Given the description of an element on the screen output the (x, y) to click on. 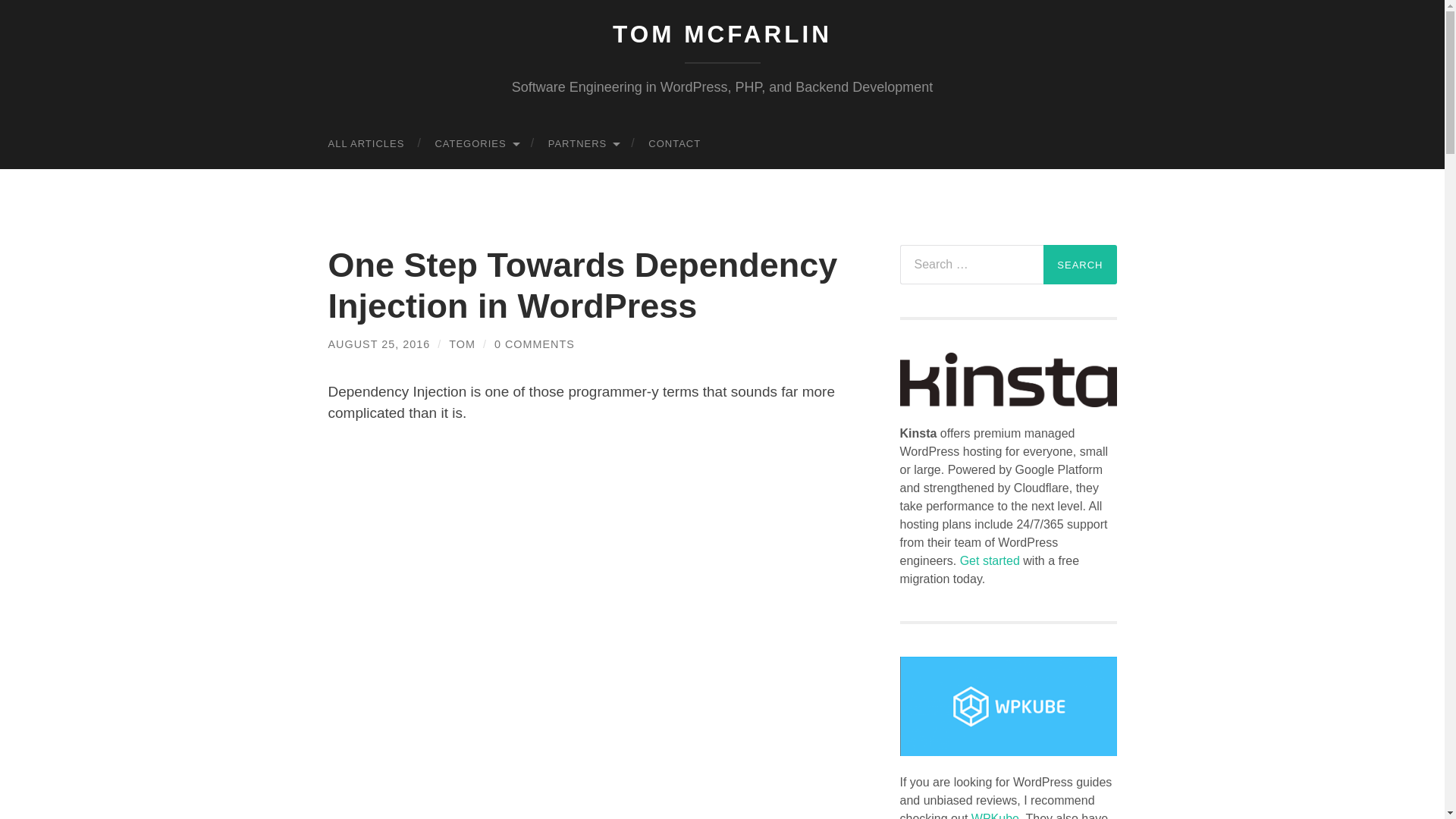
ALL ARTICLES (366, 142)
Posts by Tom (462, 344)
CONTACT (674, 142)
AUGUST 25, 2016 (378, 344)
TOM MCFARLIN (721, 33)
0 COMMENTS (535, 344)
CATEGORIES (475, 142)
Search (1079, 264)
Search (1079, 264)
